Given the description of an element on the screen output the (x, y) to click on. 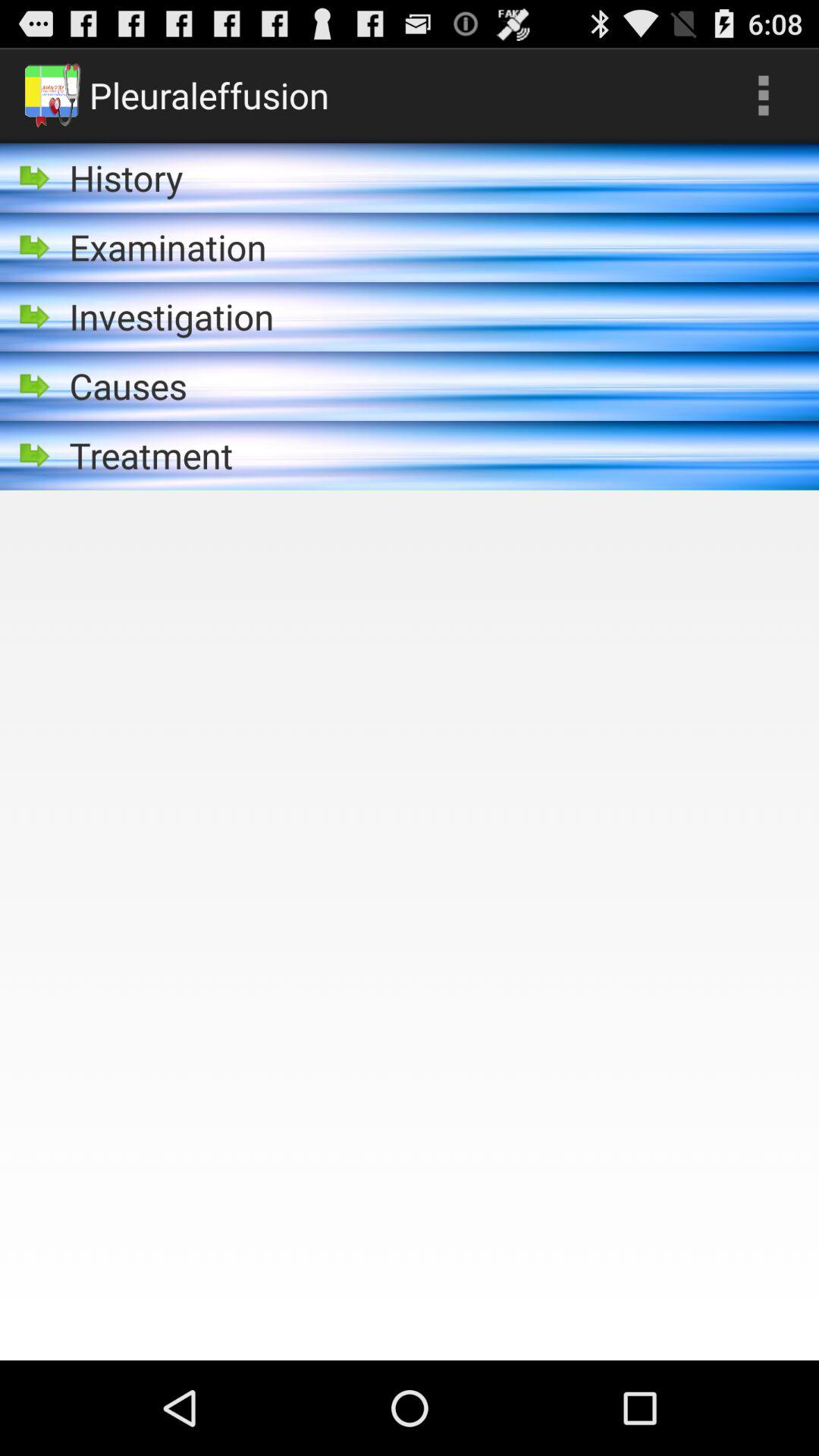
press icon at the top right corner (763, 95)
